Given the description of an element on the screen output the (x, y) to click on. 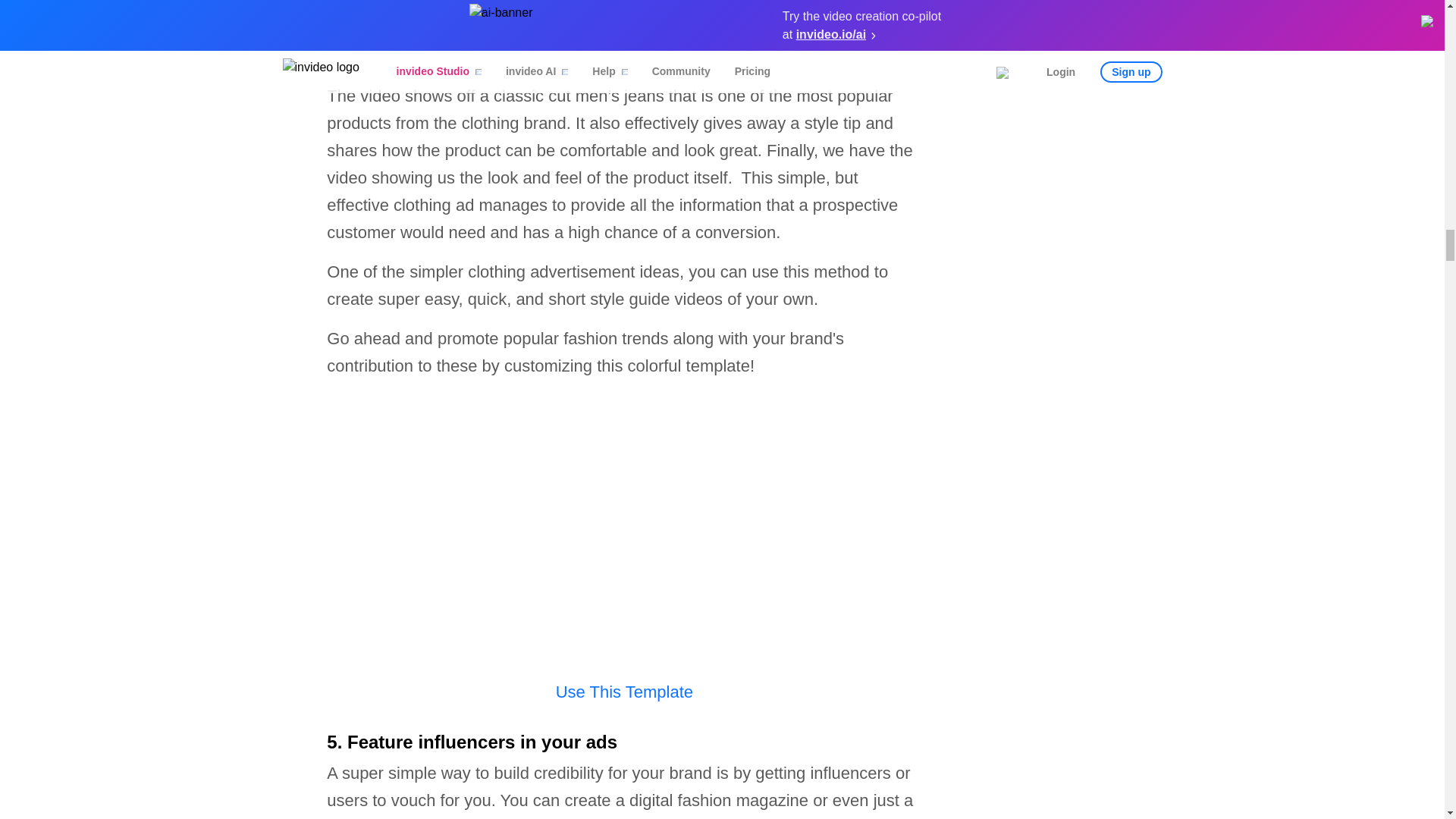
Use This Template (624, 691)
